Given the description of an element on the screen output the (x, y) to click on. 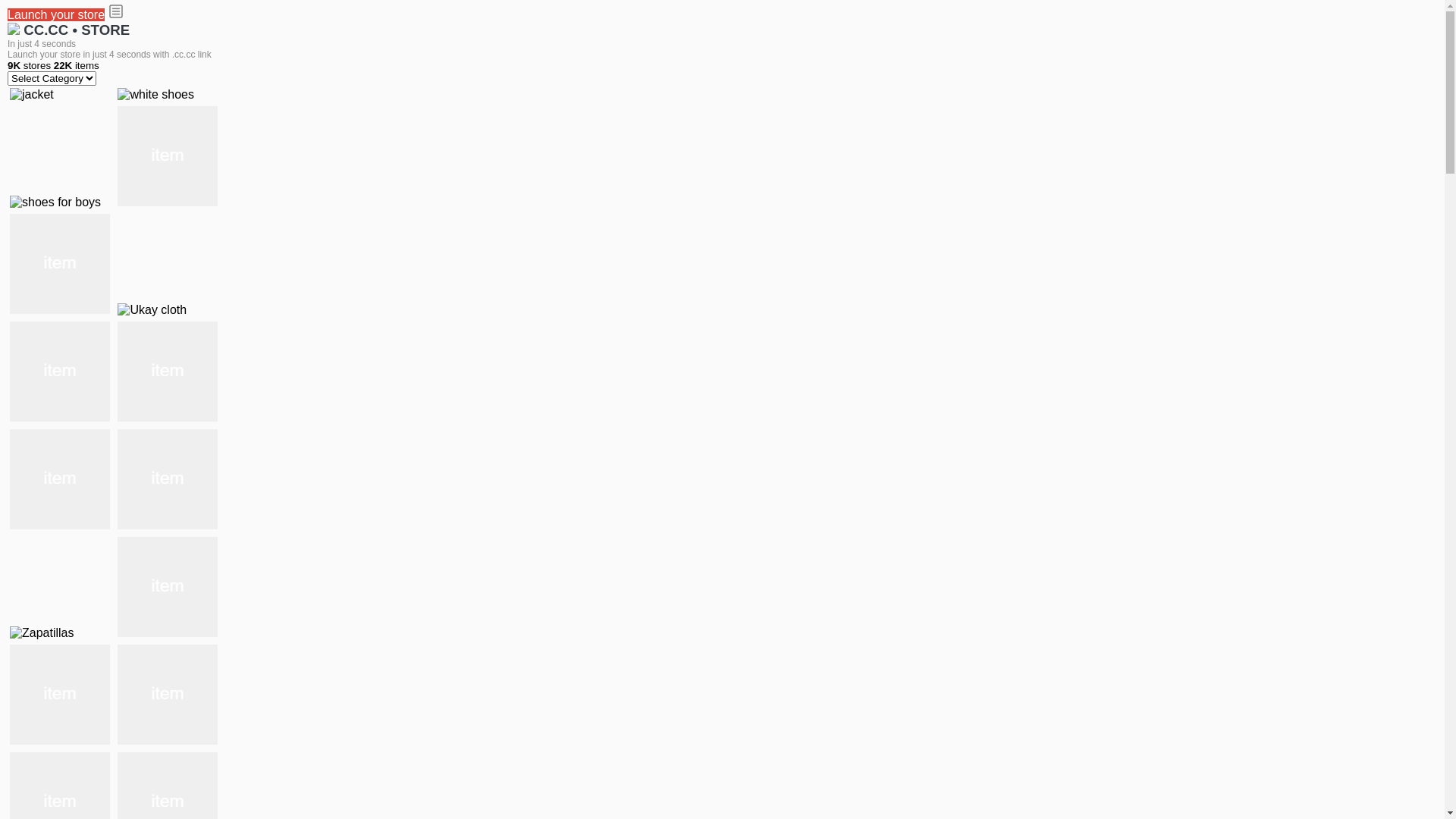
Dress/square nect top Element type: hover (59, 371)
white shoes Element type: hover (155, 94)
Zapatillas Element type: hover (41, 633)
Things we need Element type: hover (59, 263)
Pant Element type: hover (167, 694)
jacket Element type: hover (31, 94)
shoes for boys Element type: hover (54, 202)
Shoes for boys Element type: hover (167, 156)
Pant Element type: hover (59, 694)
Shoes Element type: hover (167, 371)
Short pant Element type: hover (167, 586)
Ukay cloth Element type: hover (151, 309)
Launch your store Element type: text (55, 14)
Zapatillas pumas Element type: hover (167, 479)
